Given the description of an element on the screen output the (x, y) to click on. 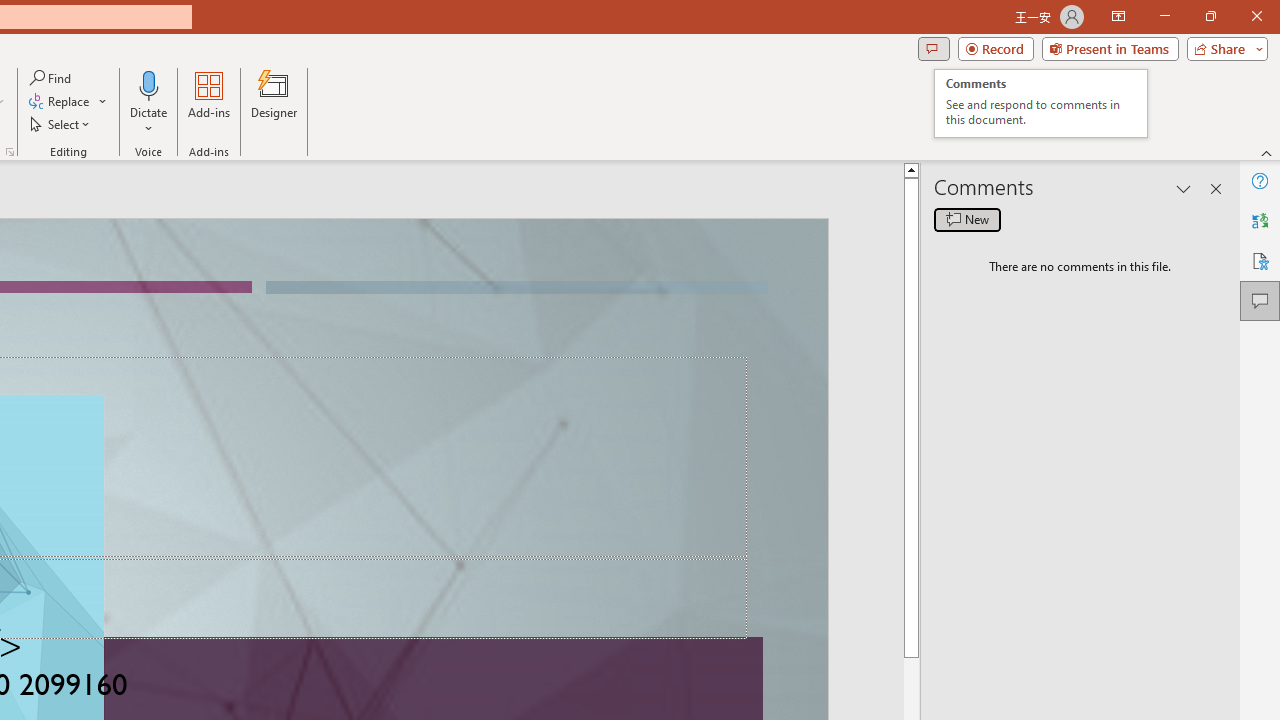
New comment (967, 219)
